Given the description of an element on the screen output the (x, y) to click on. 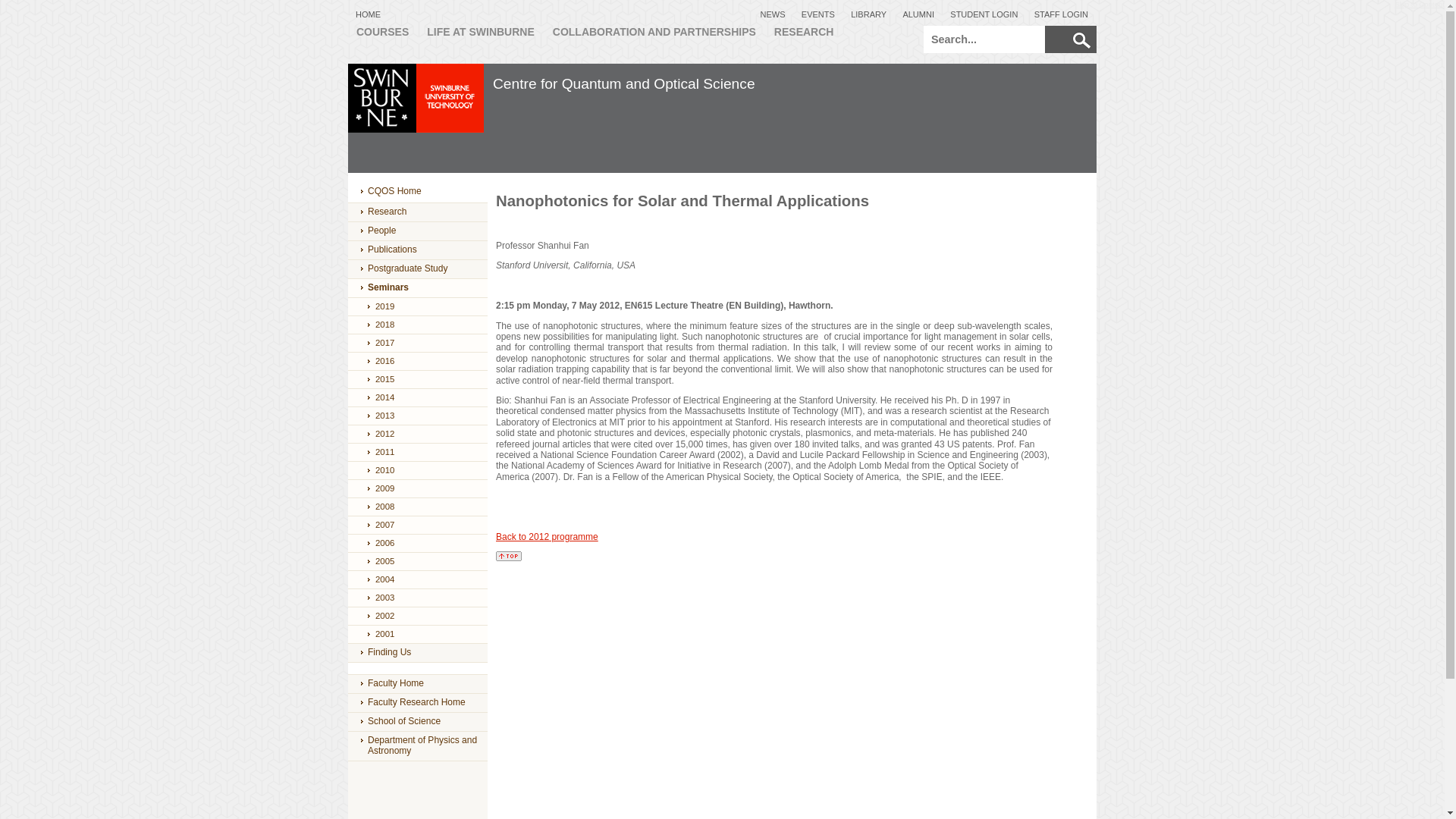
People (417, 230)
Student Login (984, 12)
ALUMNI (917, 12)
CQOS Home (417, 192)
News (772, 12)
HOME (369, 12)
Staff Login (1061, 12)
Publications (417, 249)
NEWS (772, 12)
Search (1080, 40)
RESEARCH (804, 40)
STUDENT LOGIN (984, 12)
Swinburne Home (369, 12)
Research (417, 212)
LIBRARY (868, 12)
